Given the description of an element on the screen output the (x, y) to click on. 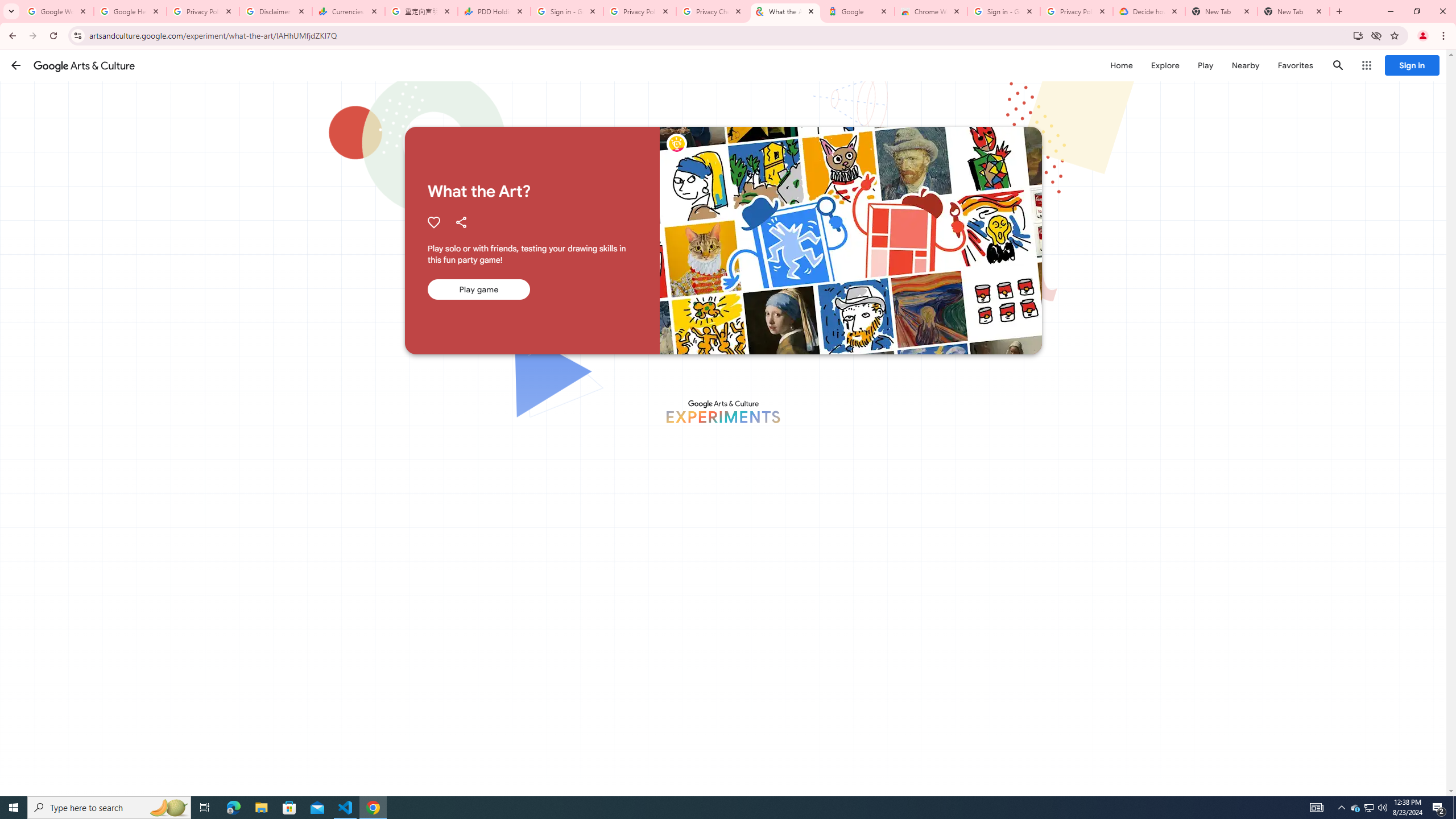
Explore (1164, 65)
Google Workspace Admin Community (57, 11)
Sign in - Google Accounts (1003, 11)
Google Arts & Culture (84, 65)
Privacy Checkup (712, 11)
Google (857, 11)
Share "What the Art?" (460, 221)
Authenticate to favorite this asset. (432, 221)
